Given the description of an element on the screen output the (x, y) to click on. 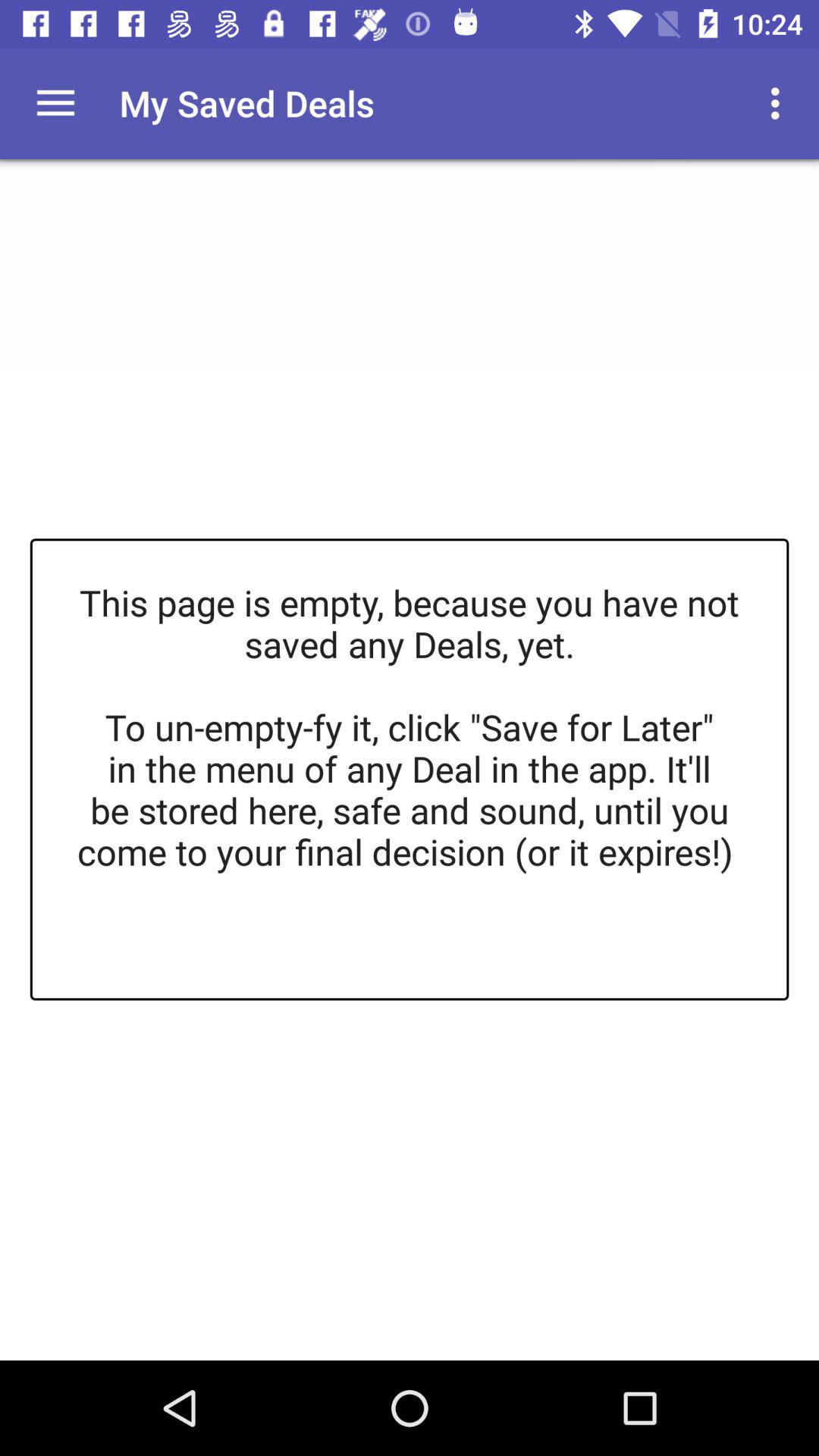
launch the app to the left of my saved deals item (55, 103)
